Given the description of an element on the screen output the (x, y) to click on. 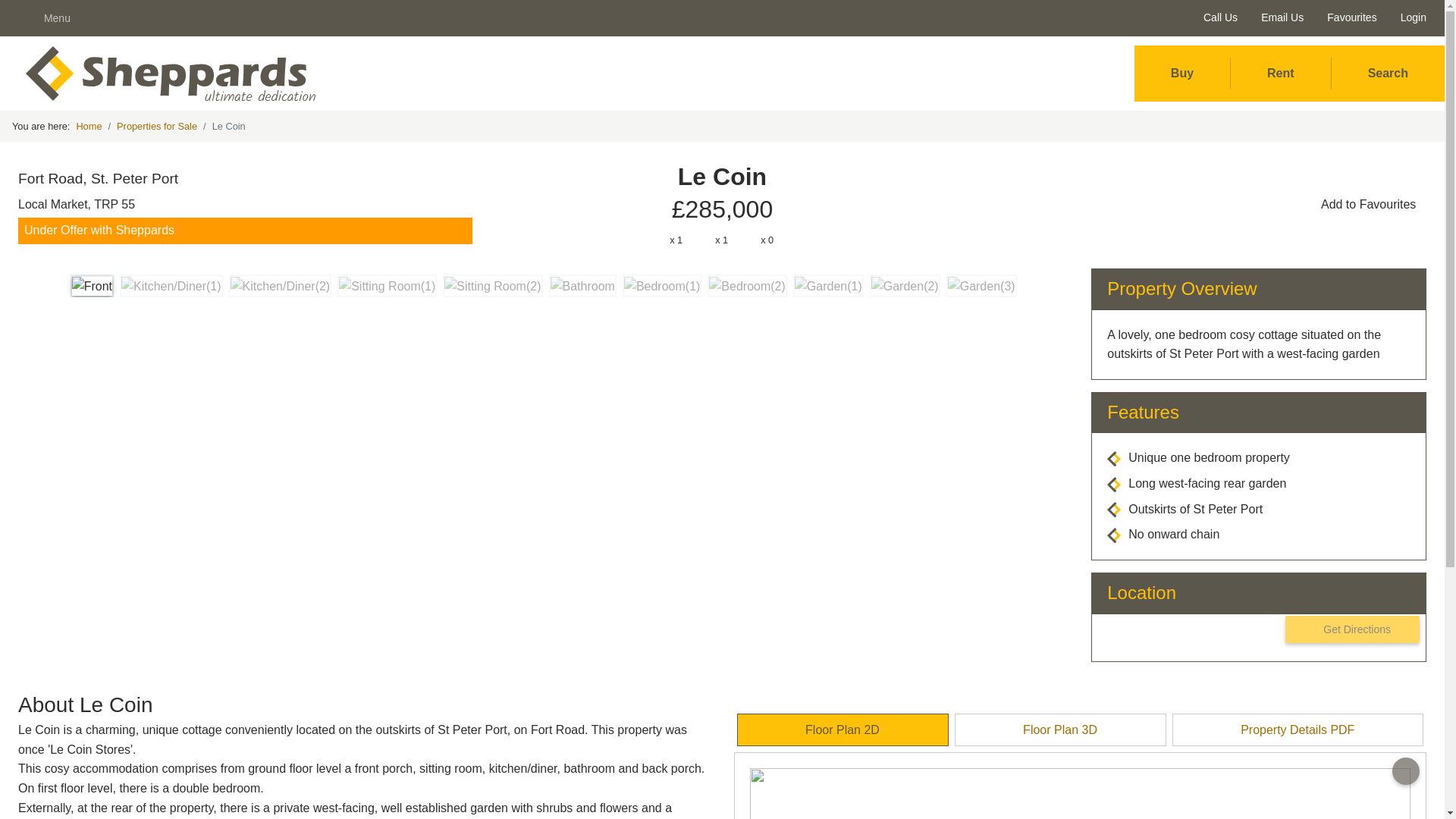
Floor Plan 2D (842, 729)
Login (1410, 17)
Contact (1000, 587)
Property Details PDF (1297, 729)
Login (1410, 17)
Buy (1181, 73)
Favourites (1347, 17)
Home (88, 126)
Menu (52, 17)
Email Us (1279, 17)
